Given the description of an element on the screen output the (x, y) to click on. 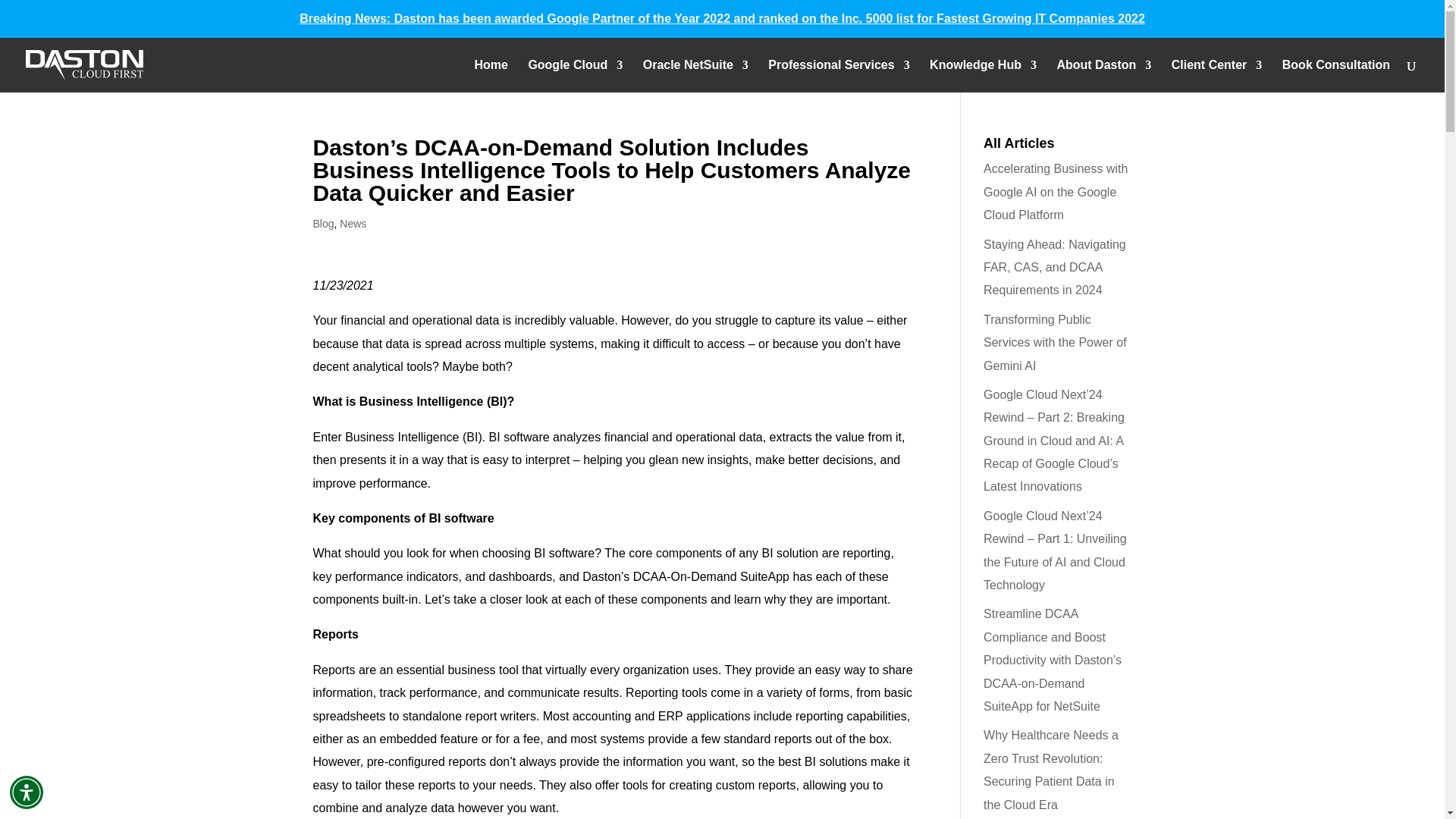
Google Cloud (575, 75)
Home (490, 75)
Oracle NetSuite (695, 75)
About Daston (1104, 75)
Book Consultation (1336, 75)
Knowledge Hub (983, 75)
Professional Services (838, 75)
Client Center (1217, 75)
Accessibility Menu (26, 792)
